Given the description of an element on the screen output the (x, y) to click on. 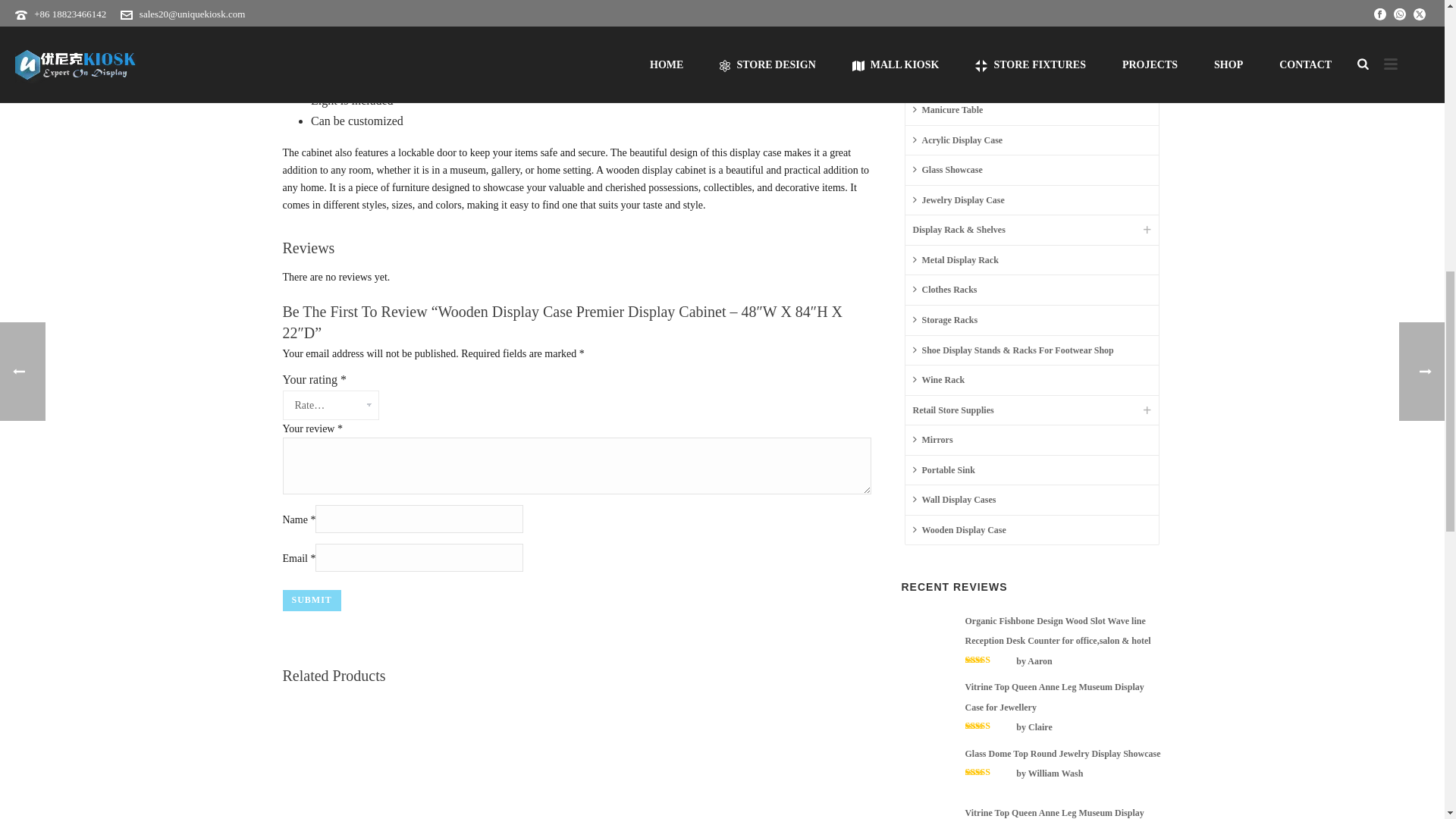
Rated 5 out of 5 (988, 771)
Rated 5 out of 5 (988, 659)
Rated 5 out of 5 (988, 725)
Submit (311, 599)
